Given the description of an element on the screen output the (x, y) to click on. 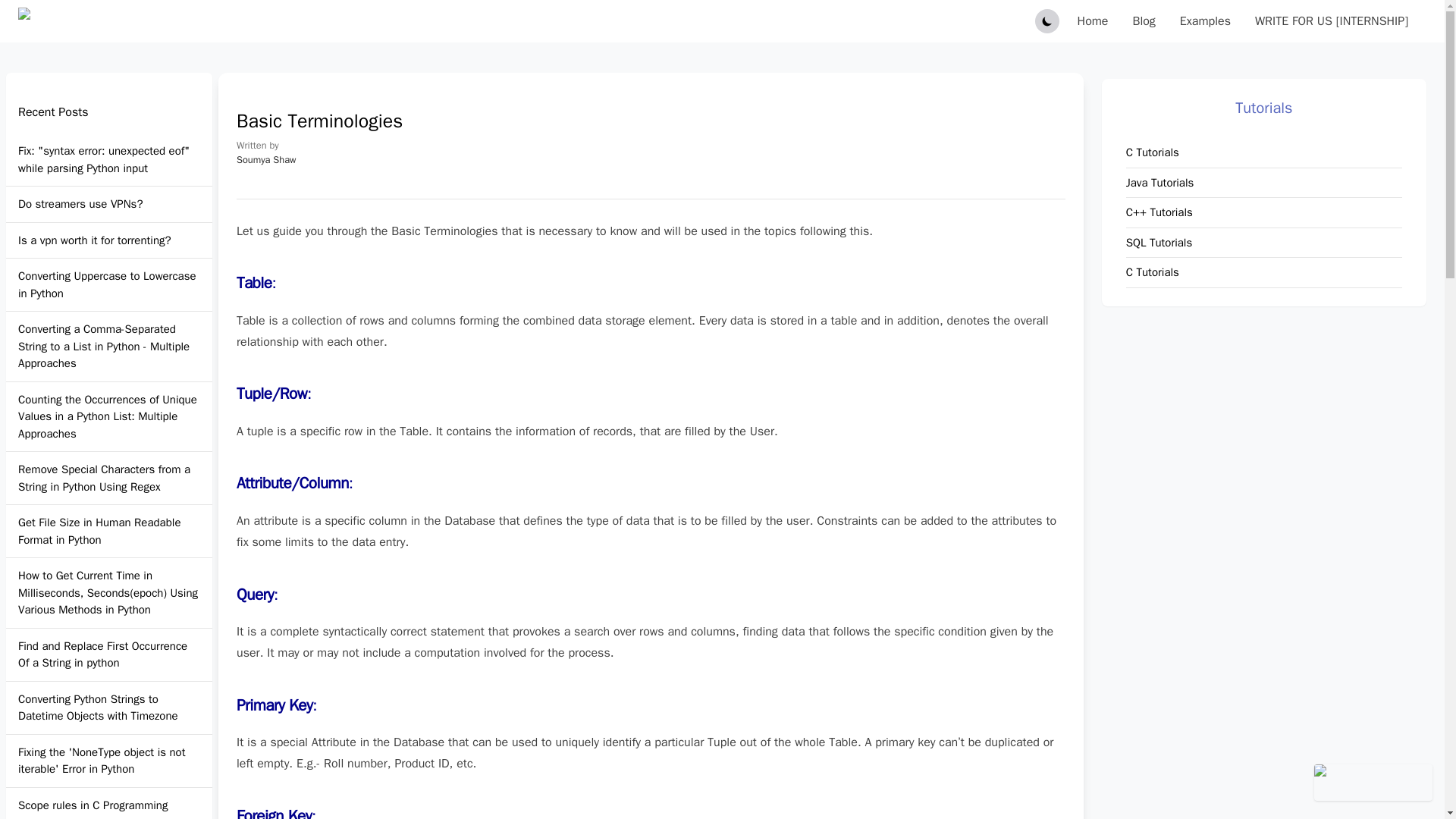
Find and Replace First Occurrence Of a String in python (108, 653)
Fixing the 'NoneType object is not iterable' Error in Python (108, 759)
Blog (1143, 21)
Examples (1204, 21)
Is a vpn worth it for torrenting? (94, 240)
Home (1092, 21)
Do streamers use VPNs? (80, 203)
